Given the description of an element on the screen output the (x, y) to click on. 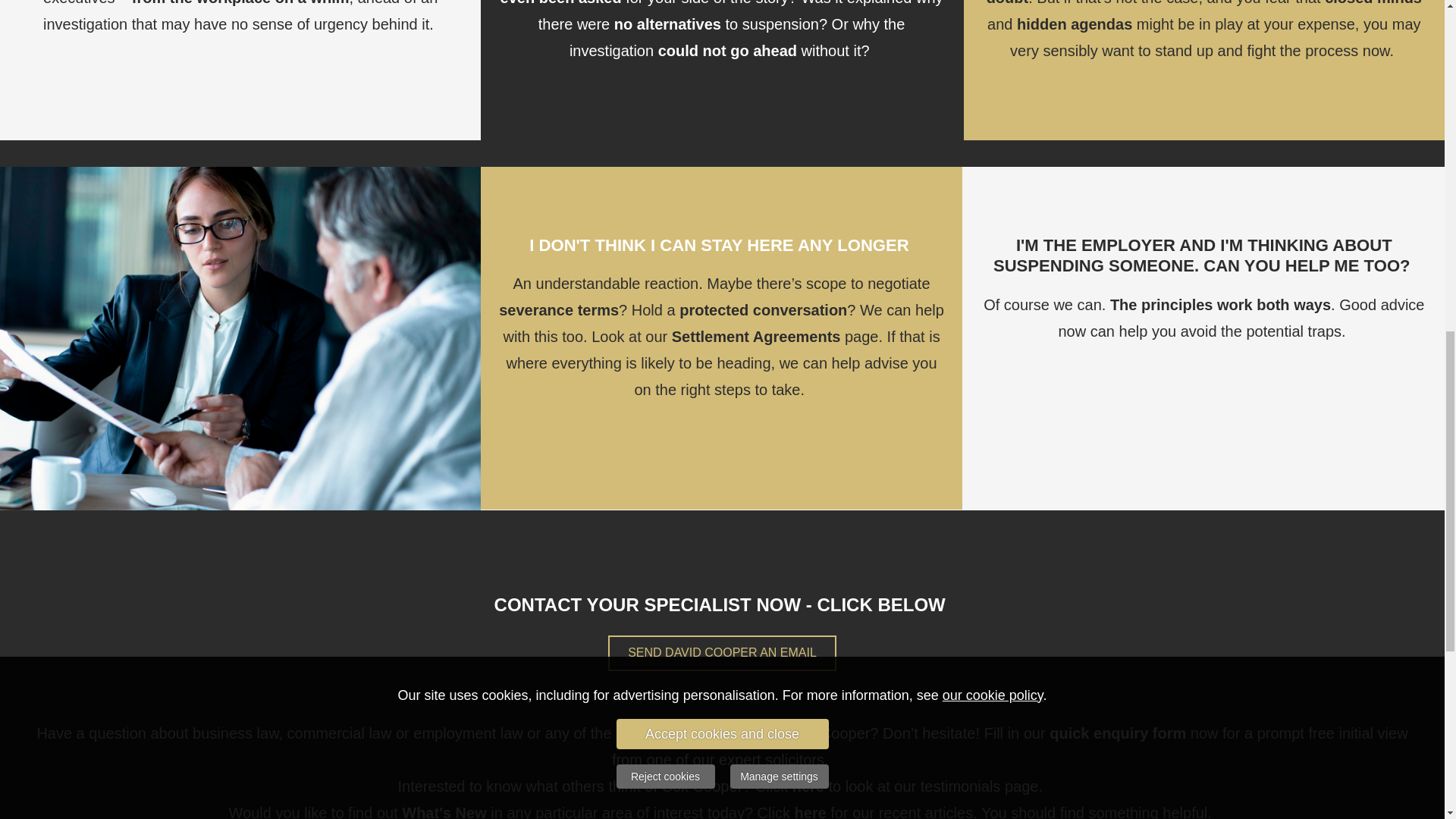
here (809, 813)
SEND DAVID COOPER AN EMAIL (721, 652)
here (808, 787)
quick enquiry form (1117, 734)
